Given the description of an element on the screen output the (x, y) to click on. 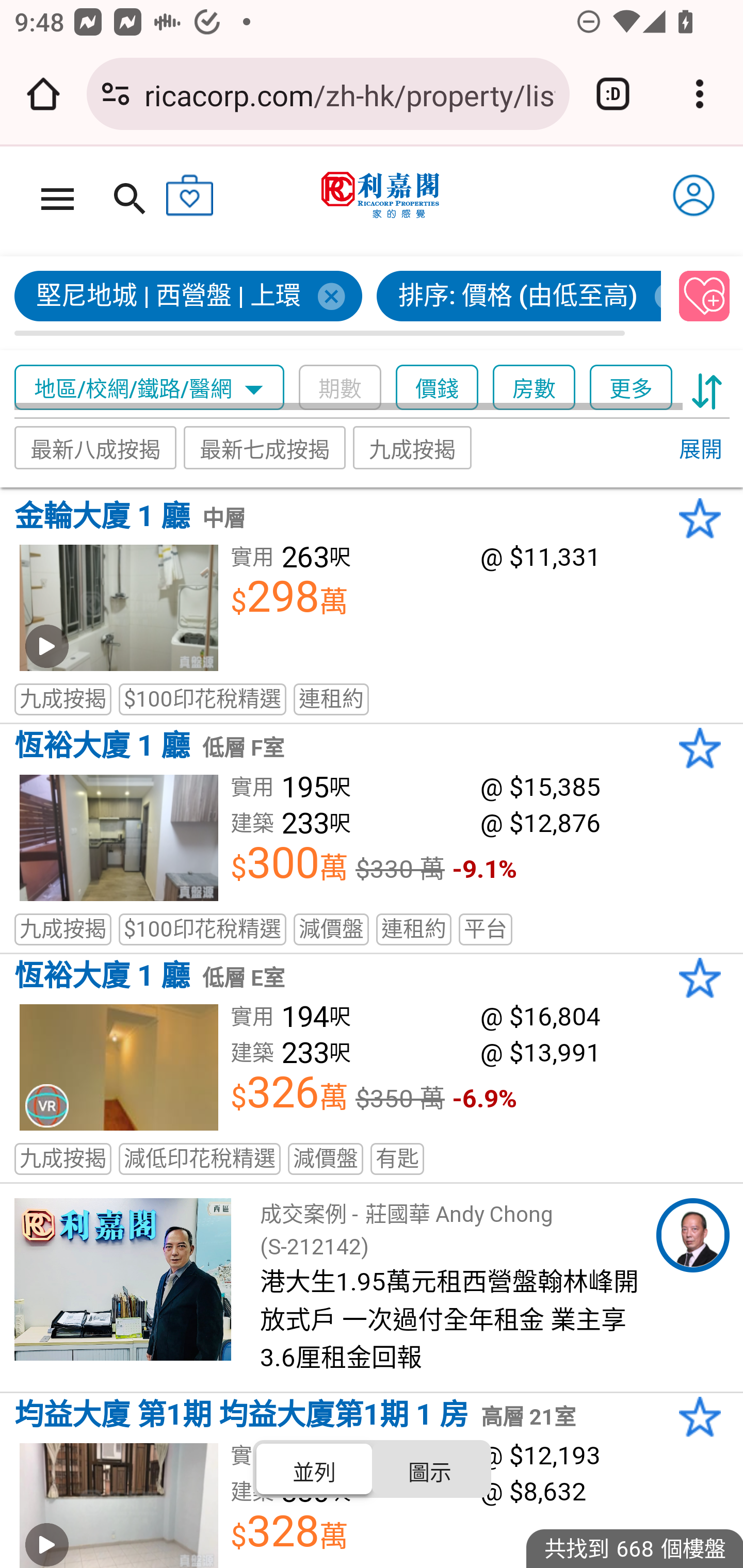
Open the home page (43, 93)
Connection is secure (115, 93)
Switch or close tabs (612, 93)
Customize and control Google Chrome (699, 93)
堅尼地城 | 西營盤 | 上環 排序: 價格 (由低至高) (338, 304)
地區/校網/鐵路/醫網 (149, 387)
期數 (339, 387)
價錢 (436, 387)
房數 (533, 387)
更多 (630, 387)
sort (706, 387)
最新八成按揭 (95, 446)
最新七成按揭 (264, 446)
九成按揭 (412, 446)
並列 (314, 1468)
圖示 (429, 1468)
